Given the description of an element on the screen output the (x, y) to click on. 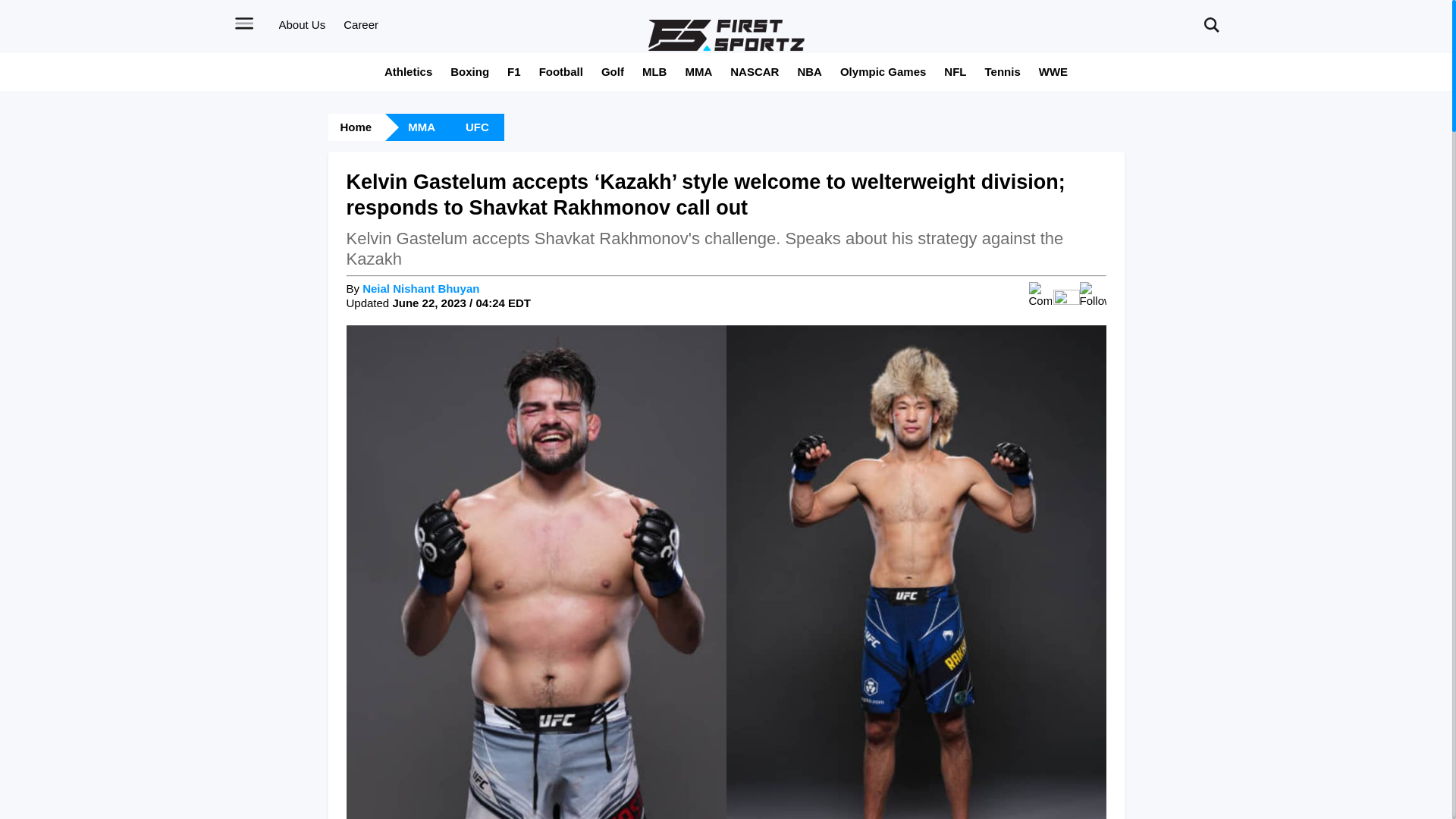
WWE (1053, 71)
Golf (612, 71)
Boxing (469, 71)
MLB (654, 71)
Career (360, 24)
About Us (302, 24)
F1 (513, 71)
FirstSportz (726, 35)
Tennis (1002, 71)
NBA (809, 71)
Football (560, 71)
NFL (954, 71)
MMA (697, 71)
NASCAR (754, 71)
Athletics (408, 71)
